Given the description of an element on the screen output the (x, y) to click on. 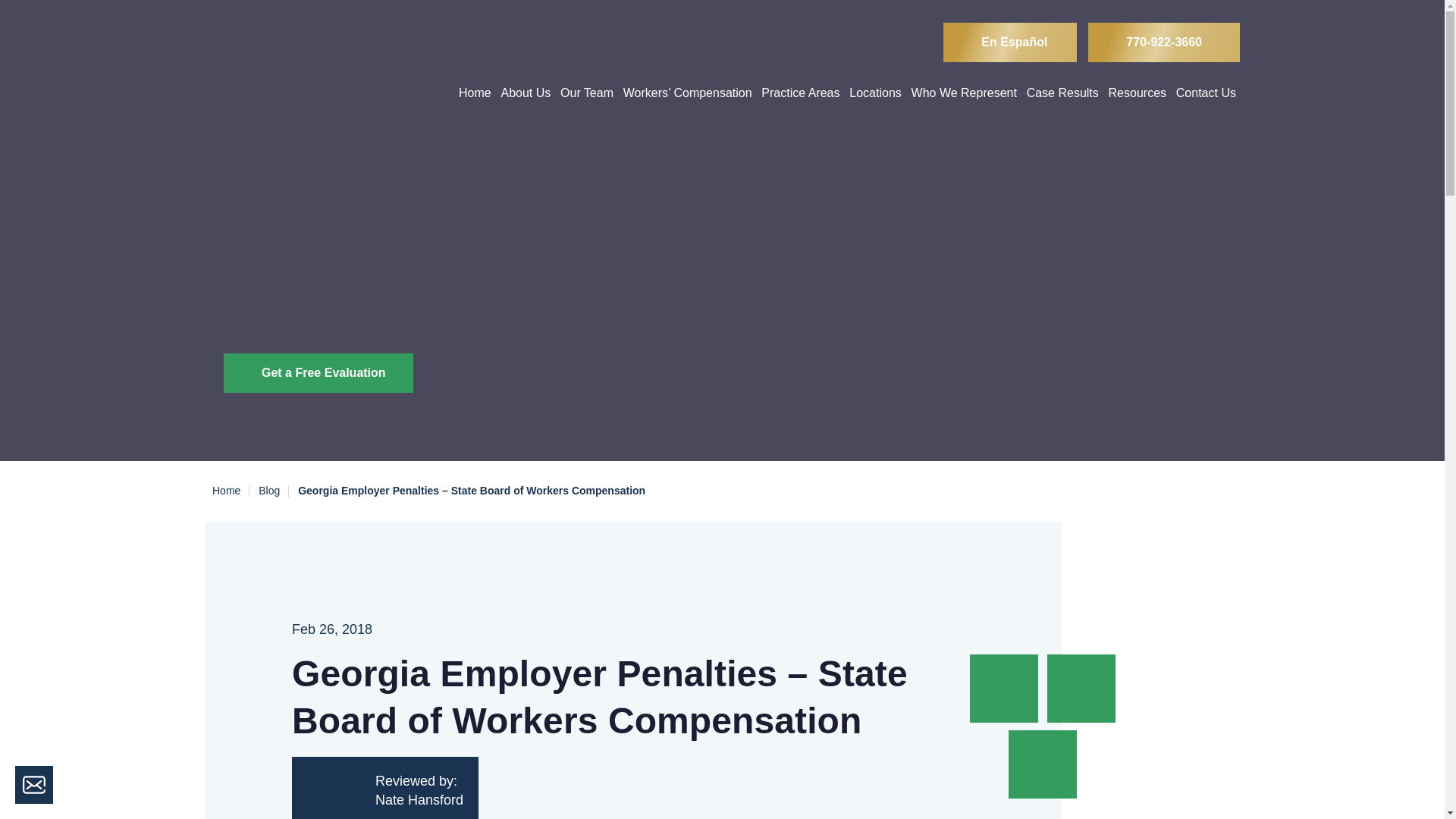
Share This Article on Facebook (1005, 687)
Our Team (586, 93)
Locations (875, 93)
Share This Article on Twitter (1042, 763)
phone number (1163, 42)
770-922-3660 (1163, 42)
Reviewed by: Nate Hansford (385, 787)
Home (474, 93)
Share This Article on Linkedin (1081, 687)
Practice Areas (800, 93)
